Given the description of an element on the screen output the (x, y) to click on. 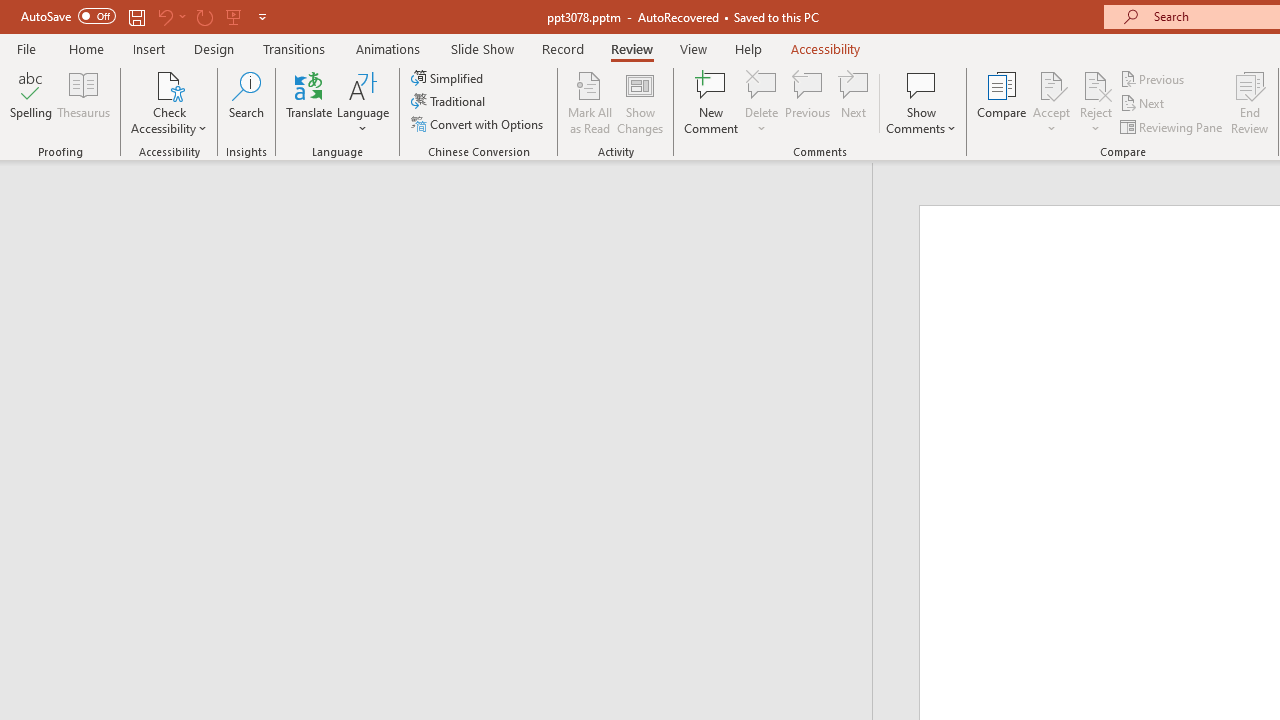
End Review (1249, 102)
Check Accessibility (169, 102)
Show Changes (639, 102)
New Comment (711, 102)
Delete (762, 102)
Reviewing Pane (1172, 126)
Reject (1096, 102)
Reject Change (1096, 84)
Accept Change (1051, 84)
Show Comments (921, 102)
